Given the description of an element on the screen output the (x, y) to click on. 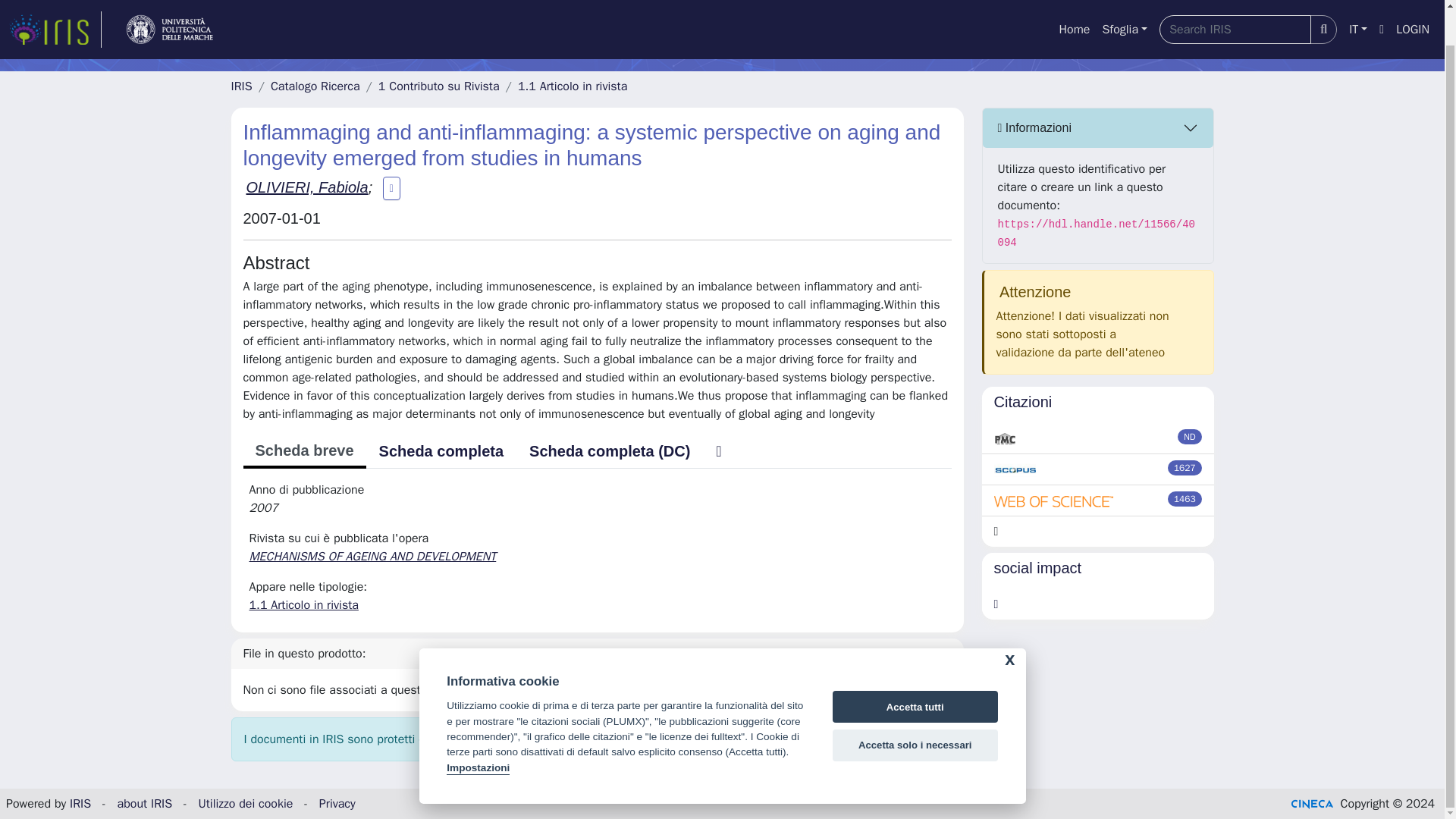
LOGIN (1412, 4)
1.1 Articolo in rivista (572, 86)
1 Contributo su Rivista (438, 86)
IT (1357, 4)
Home (1074, 4)
Scheda breve (304, 451)
Sfoglia (1124, 4)
MECHANISMS OF AGEING AND DEVELOPMENT (373, 556)
 Informazioni (1097, 128)
OLIVIERI, Fabiola (307, 187)
IRIS (240, 86)
aggiornato in data 14-07-2024 20:14 (1184, 467)
Scheda completa (441, 450)
IRIS (79, 803)
Catalogo Ricerca (314, 86)
